Given the description of an element on the screen output the (x, y) to click on. 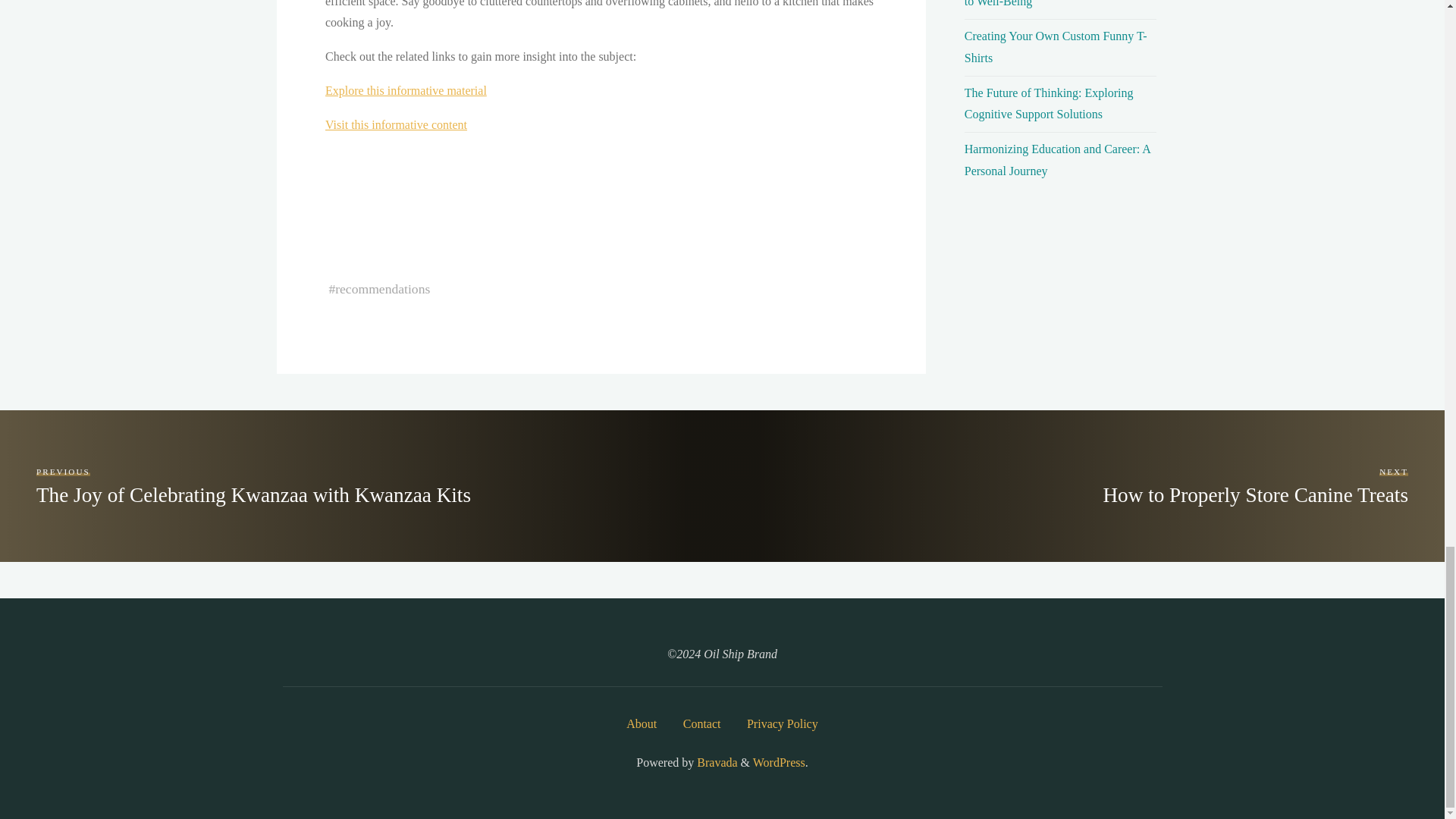
recommendations (381, 288)
Semantic Personal Publishing Platform (253, 486)
Explore this informative material (778, 762)
The Power of Mindfulness: A Journey to Well-Being (405, 90)
Visit this informative content (1056, 3)
Bravada WordPress Theme by Cryout Creations (394, 124)
Harmonizing Education and Career: A Personal Journey (715, 762)
Creating Your Own Custom Funny T-Shirts (1056, 159)
